Given the description of an element on the screen output the (x, y) to click on. 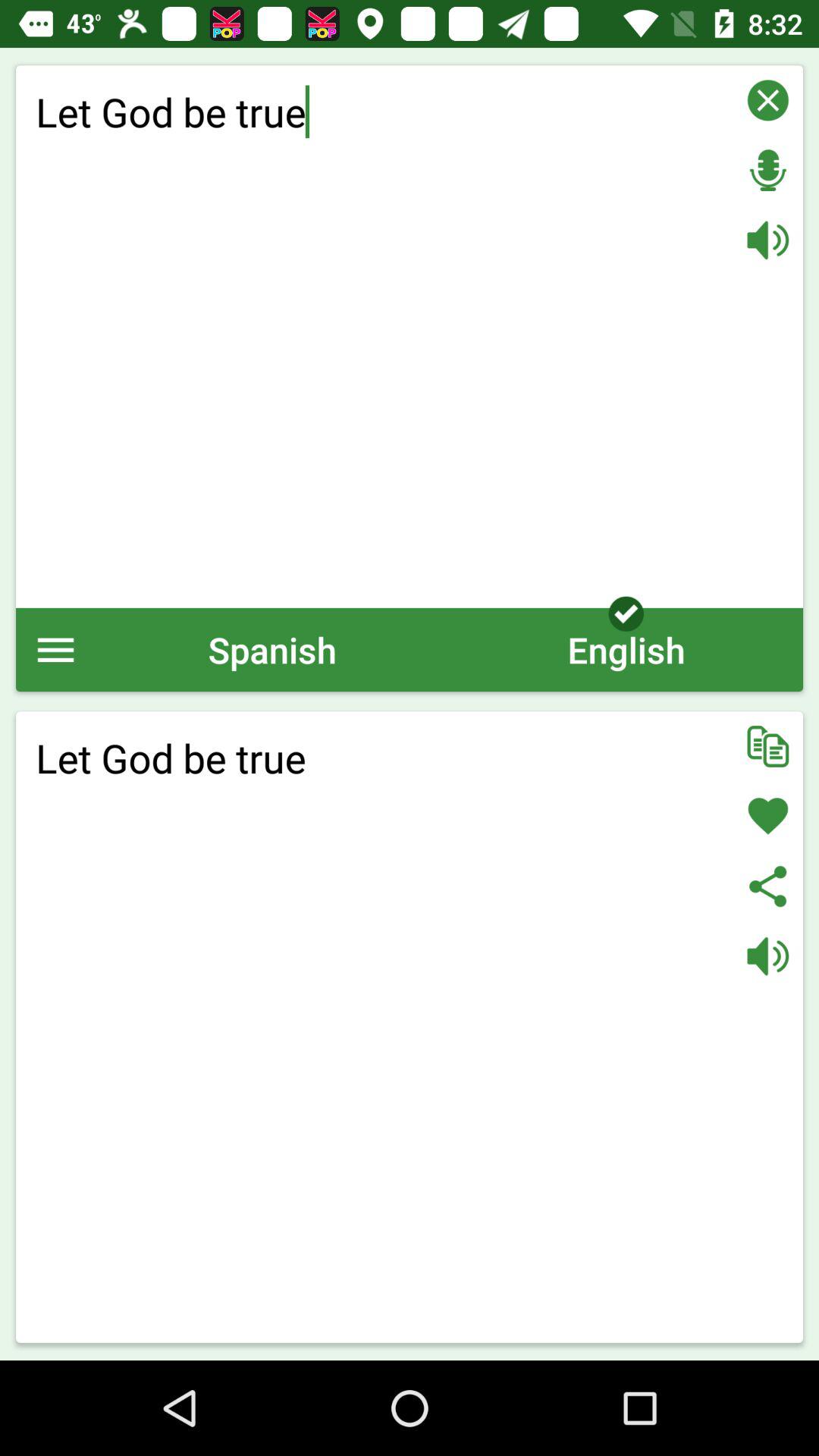
turn on the icon next to spanish (55, 649)
